Given the description of an element on the screen output the (x, y) to click on. 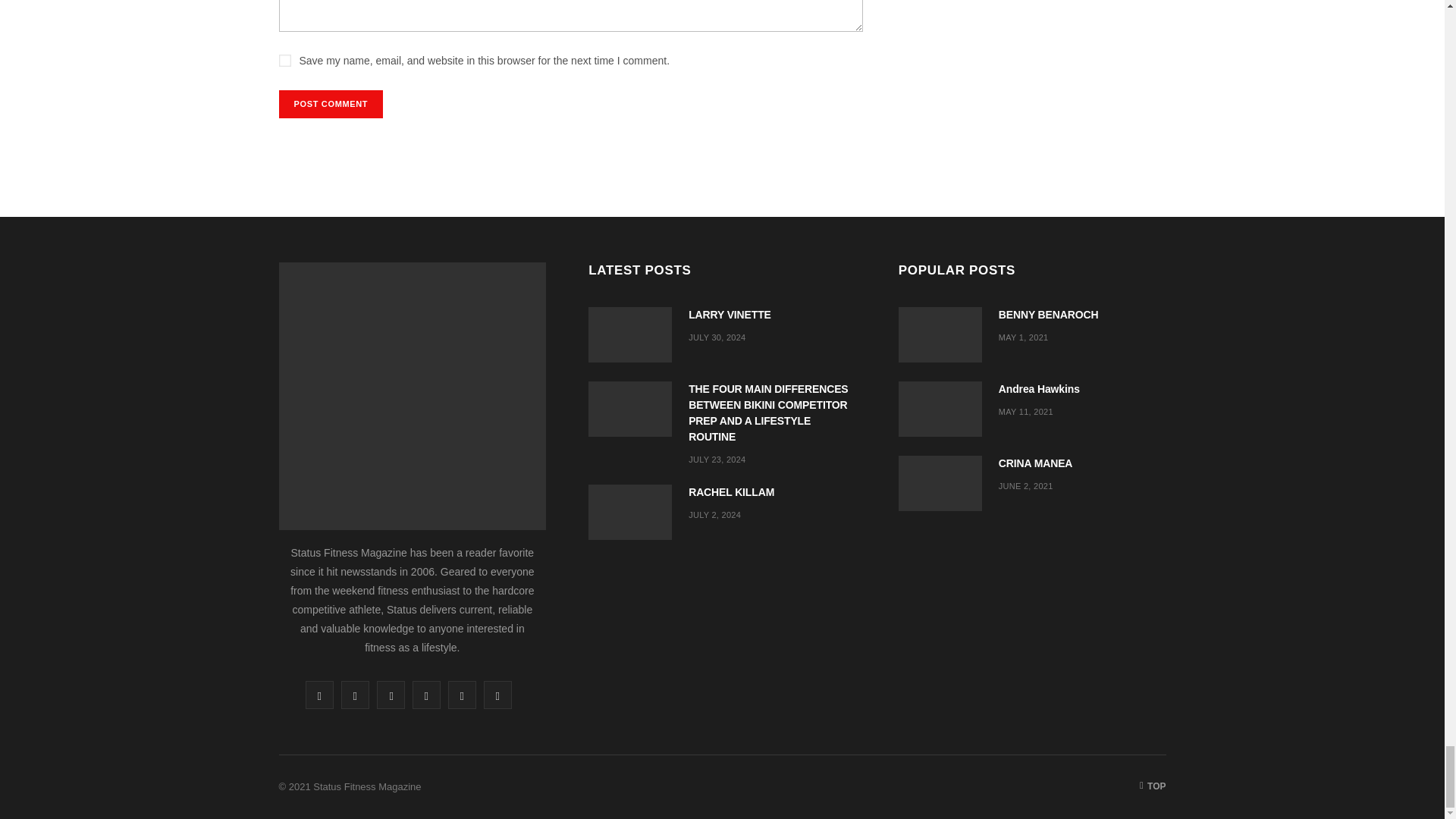
yes (285, 60)
Post Comment (331, 103)
